Given the description of an element on the screen output the (x, y) to click on. 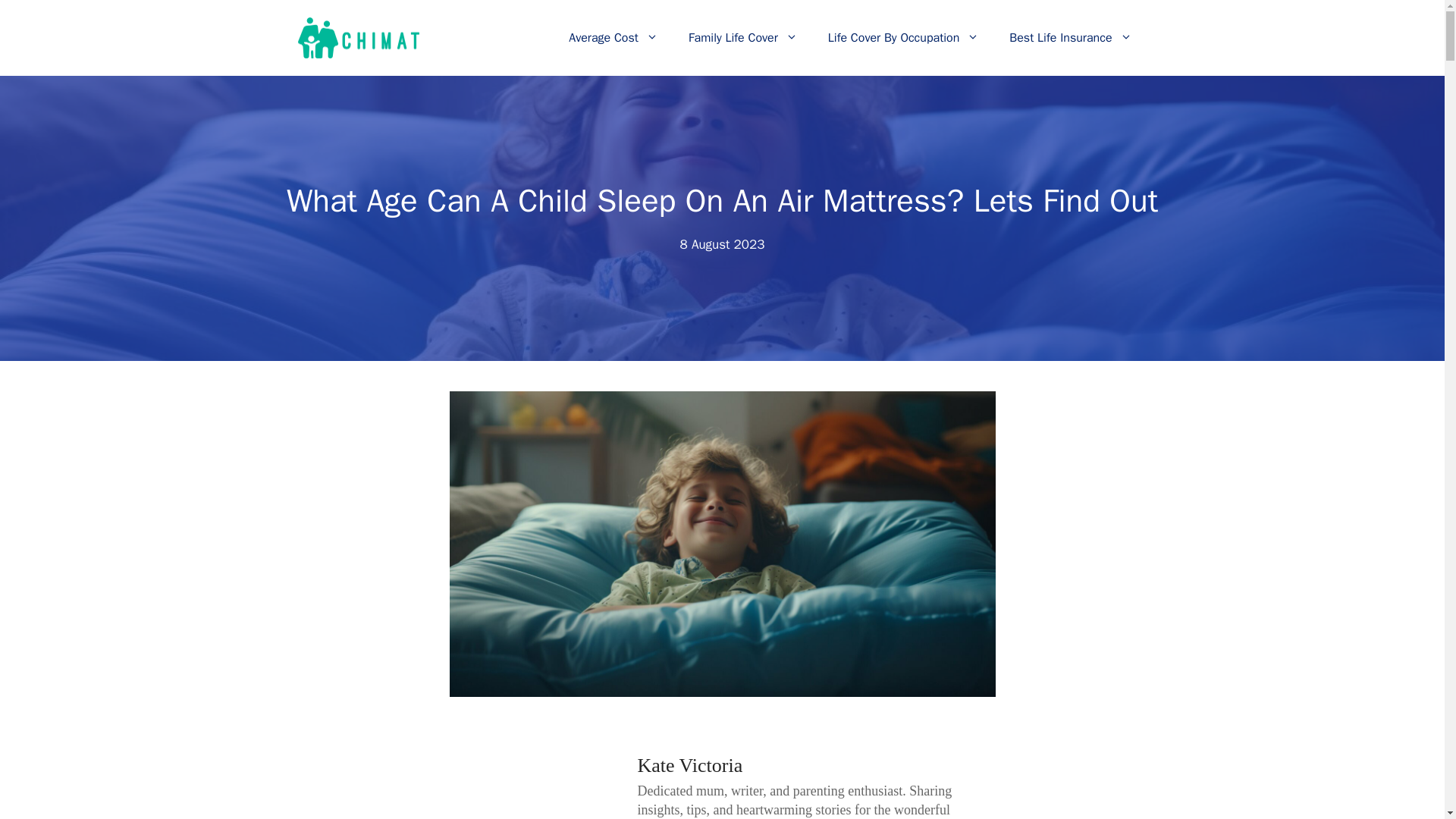
Best Life Insurance (1070, 37)
Life Cover By Occupation (903, 37)
Family Life Cover (742, 37)
Average Cost (612, 37)
Kate Victoria (689, 765)
